Given the description of an element on the screen output the (x, y) to click on. 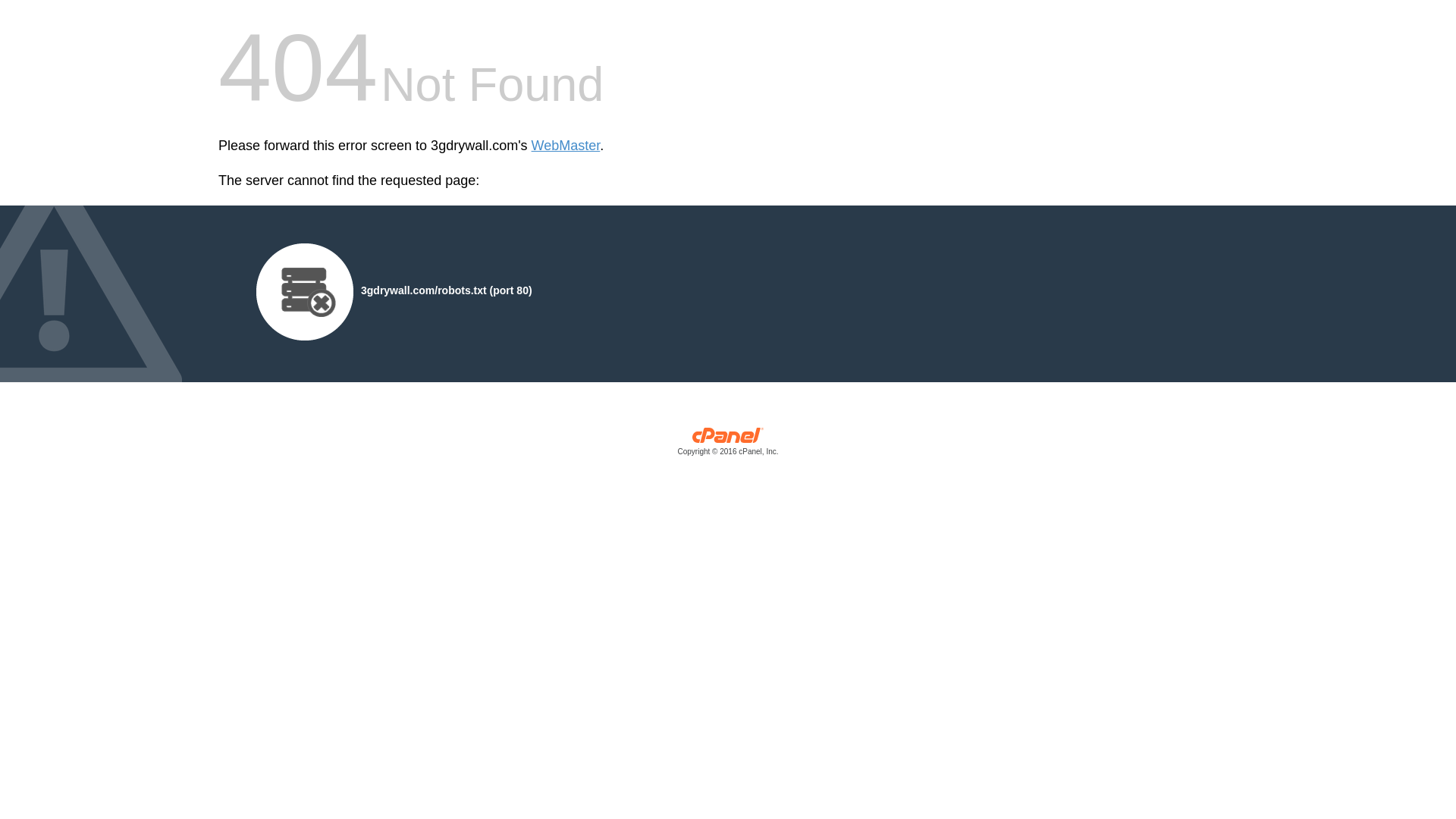
WebMaster Element type: text (565, 145)
